Given the description of an element on the screen output the (x, y) to click on. 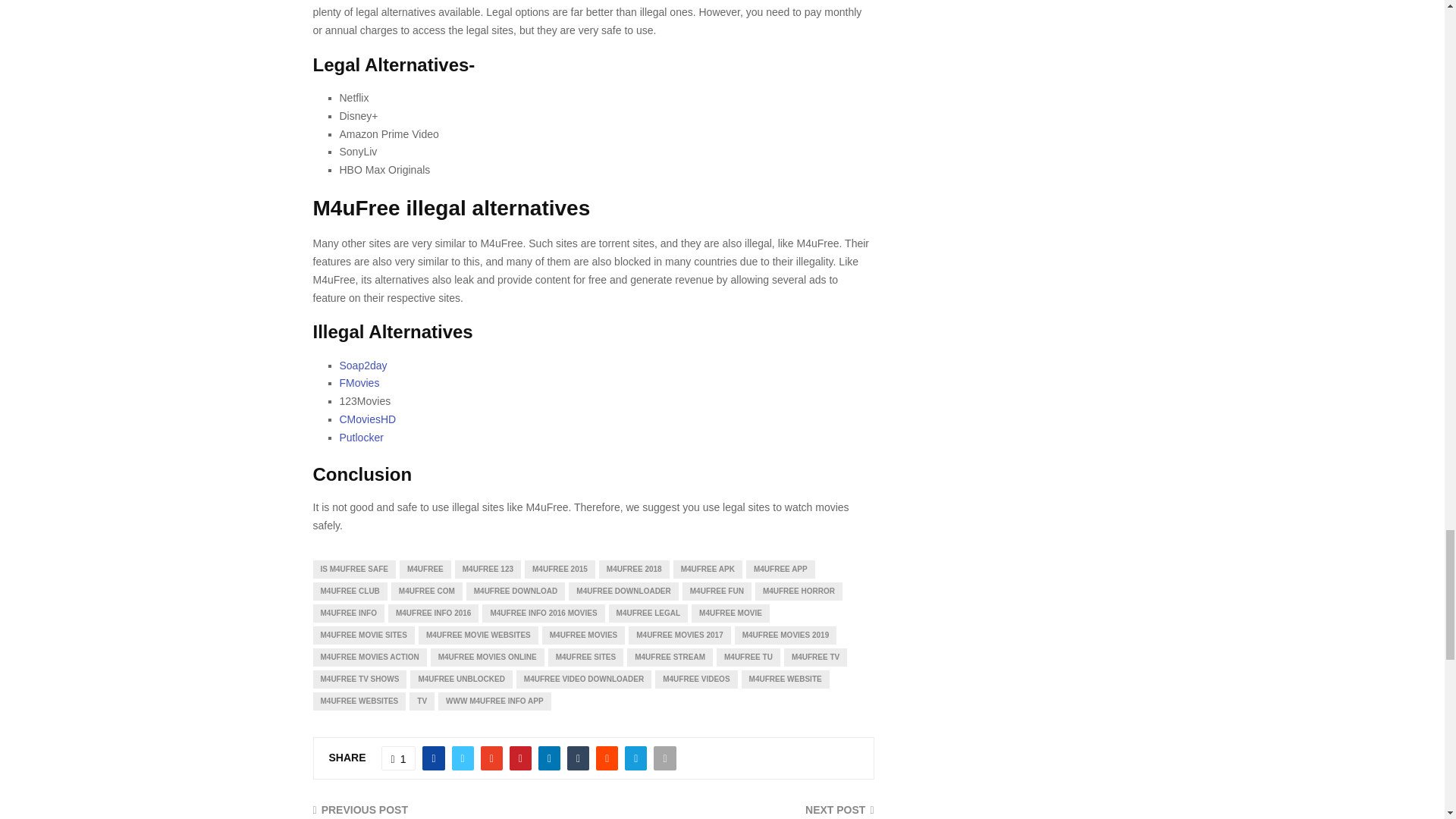
M4UFREE CLUB (350, 591)
Putlocker (361, 437)
FMovies (359, 382)
M4UFREE COM (427, 591)
M4UFREE 2018 (633, 569)
CMoviesHD (367, 419)
IS M4UFREE SAFE (353, 569)
Soap2day (363, 365)
M4UFREE APK (707, 569)
M4UFREE 2015 (559, 569)
